Given the description of an element on the screen output the (x, y) to click on. 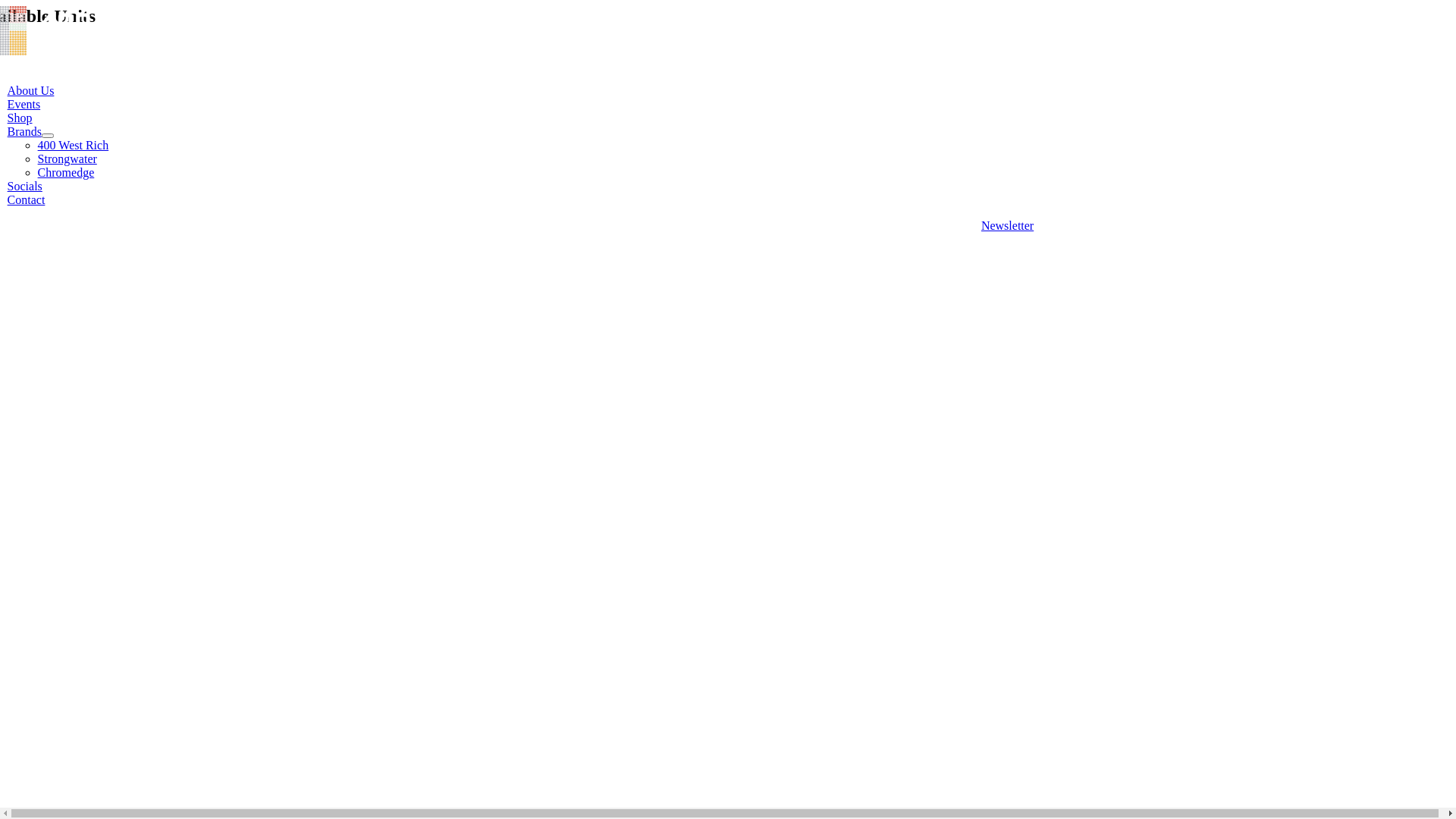
Strongwater Element type: text (67, 158)
Contact Element type: text (26, 199)
Socials Element type: text (24, 185)
About Us Element type: text (30, 90)
Shop Element type: text (19, 117)
400 West Rich Element type: text (73, 144)
Newsletter Element type: text (1007, 225)
Skip to content Element type: text (5, 5)
Events Element type: text (23, 103)
Brands Element type: text (24, 131)
Chromedge Element type: text (65, 172)
